Given the description of an element on the screen output the (x, y) to click on. 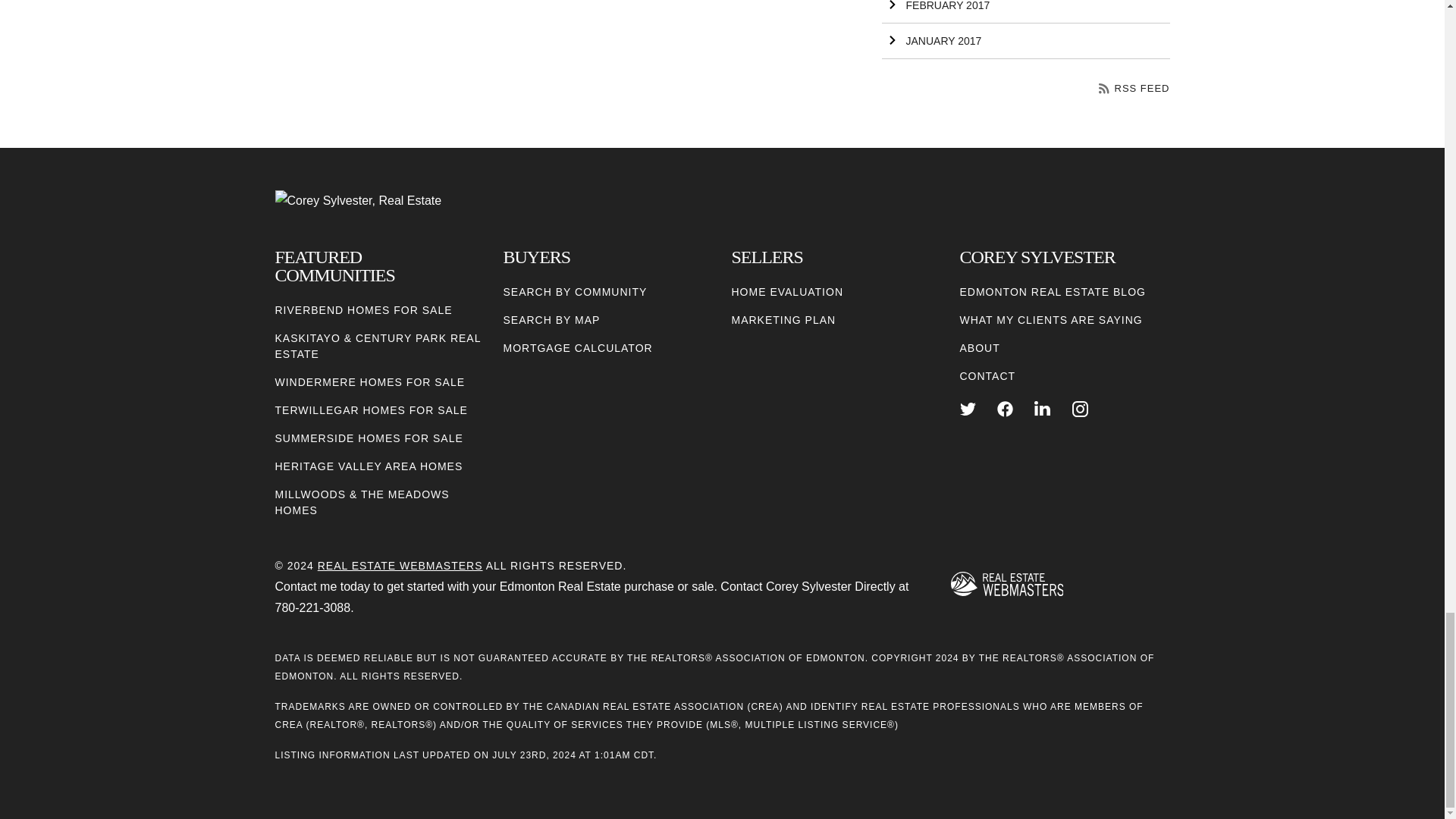
RSS FEED (1134, 88)
